Given the description of an element on the screen output the (x, y) to click on. 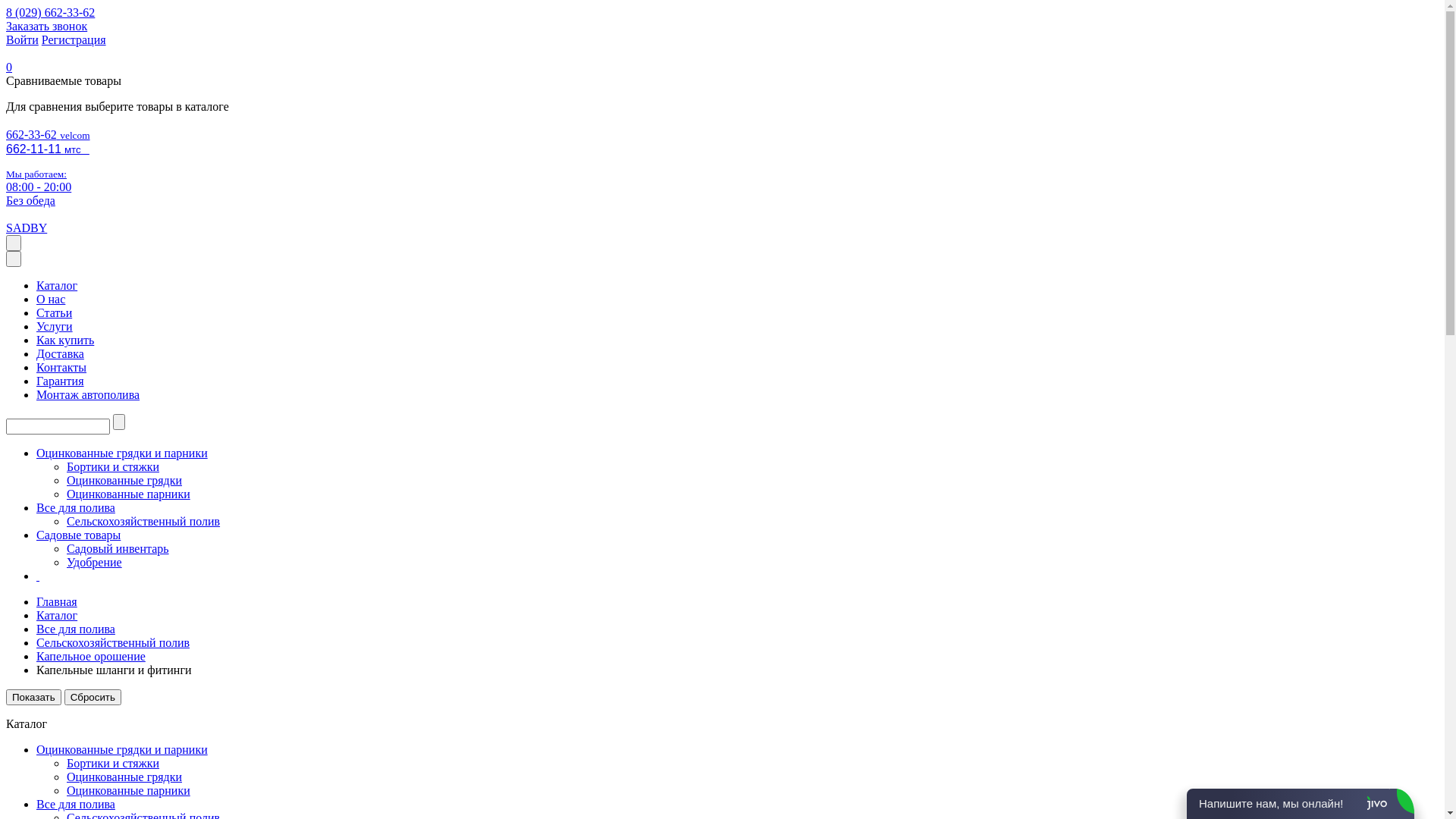
  Element type: text (37, 575)
SADBY Element type: text (26, 227)
8 (029) 662-33-62 Element type: text (50, 12)
0 Element type: text (9, 66)
